Given the description of an element on the screen output the (x, y) to click on. 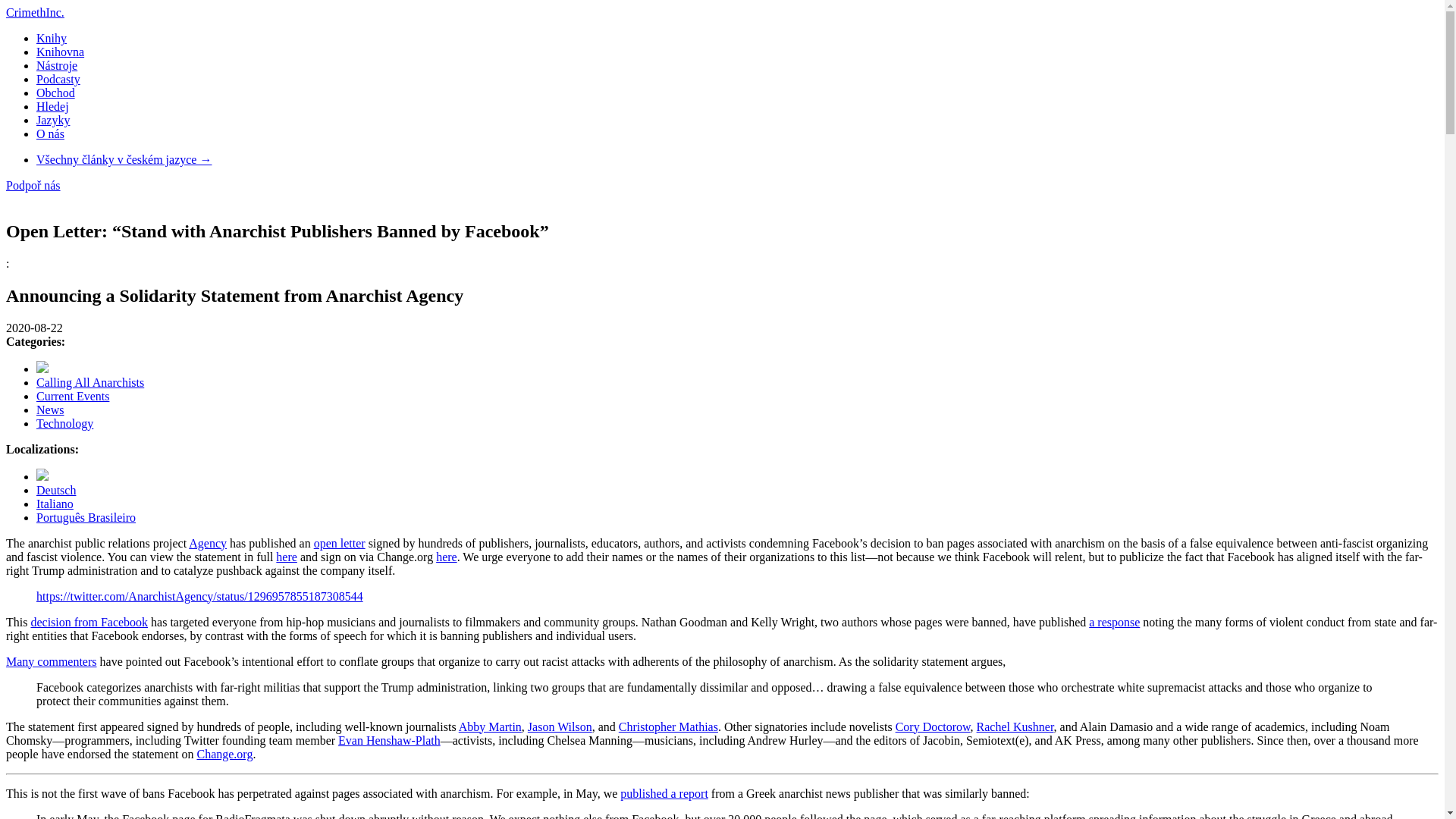
Hledej (52, 106)
Podcasty (58, 78)
Knihovna (60, 51)
Obchod (55, 92)
here (286, 556)
here (446, 556)
Many commenters (51, 661)
Change.org (223, 753)
Christopher Mathias (667, 726)
Rachel Kushner (1015, 726)
Current Events (72, 395)
CrimethInc. (34, 11)
decision from Facebook (89, 621)
published a report (663, 793)
Calling All Anarchists (90, 382)
